Given the description of an element on the screen output the (x, y) to click on. 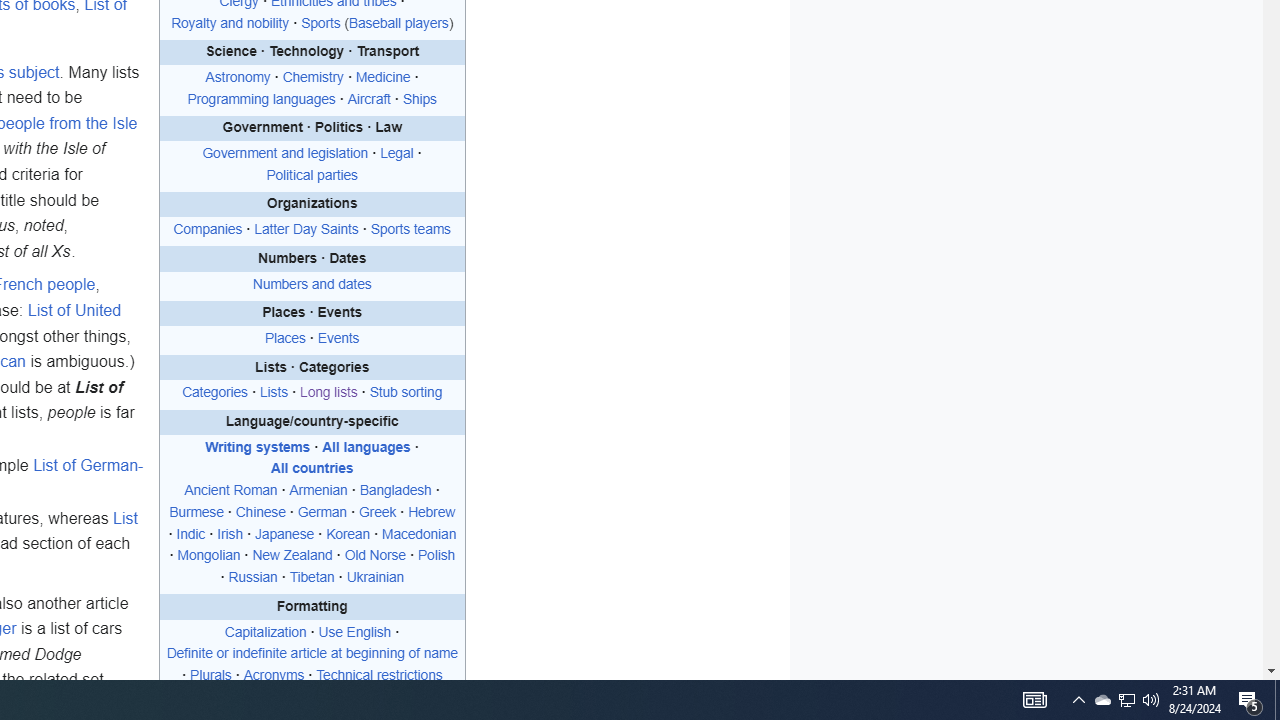
Bangladesh (395, 490)
Ships (418, 98)
Royalty and nobility (230, 22)
Technical restrictions (379, 676)
Baseball players (398, 22)
Aircraft (368, 98)
New Zealand (292, 555)
